Given the description of an element on the screen output the (x, y) to click on. 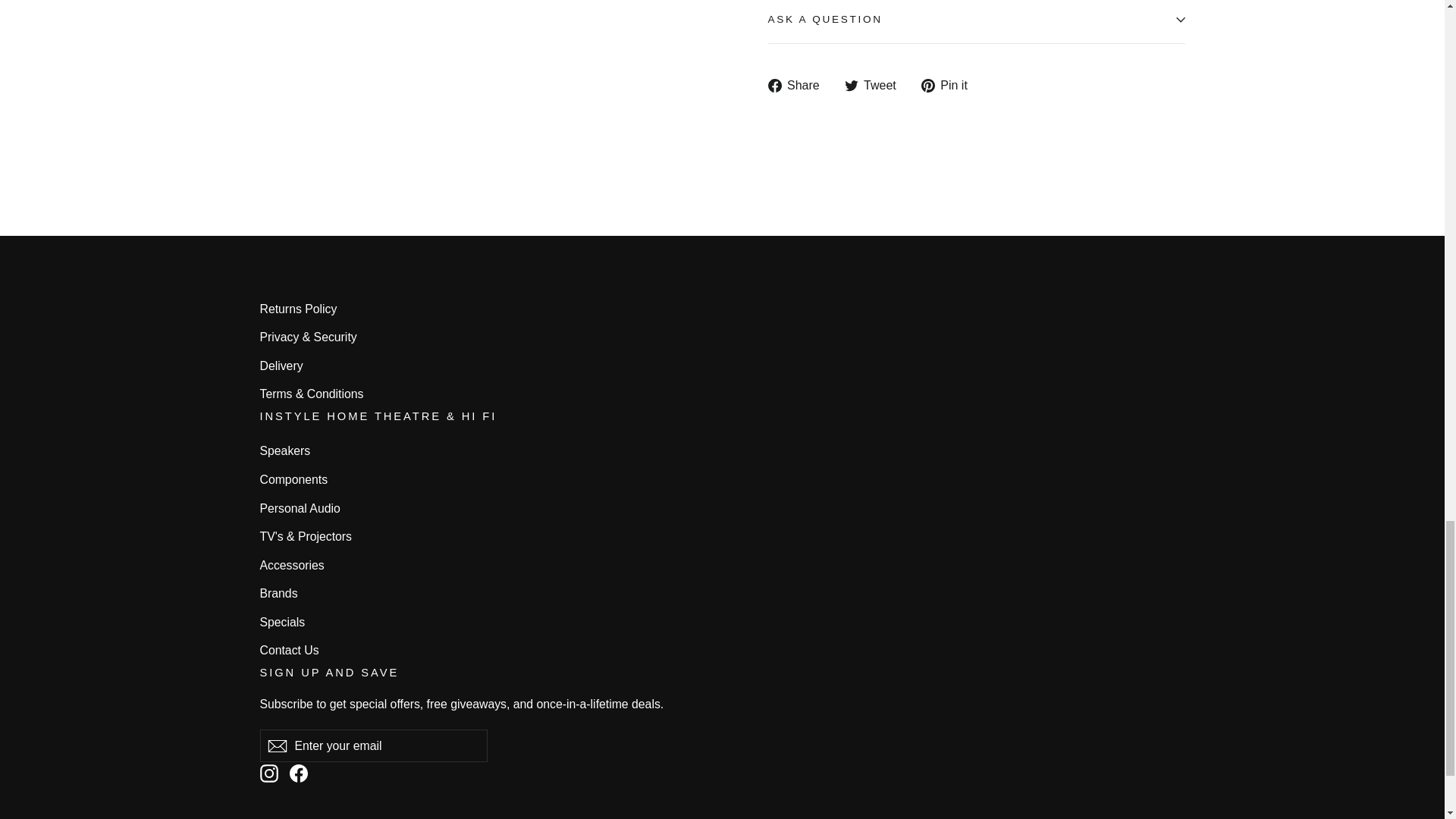
instagram (268, 773)
twitter (851, 85)
Pin on Pinterest (949, 85)
Share on Facebook (798, 85)
Tweet on Twitter (875, 85)
icon-email (276, 746)
